Given the description of an element on the screen output the (x, y) to click on. 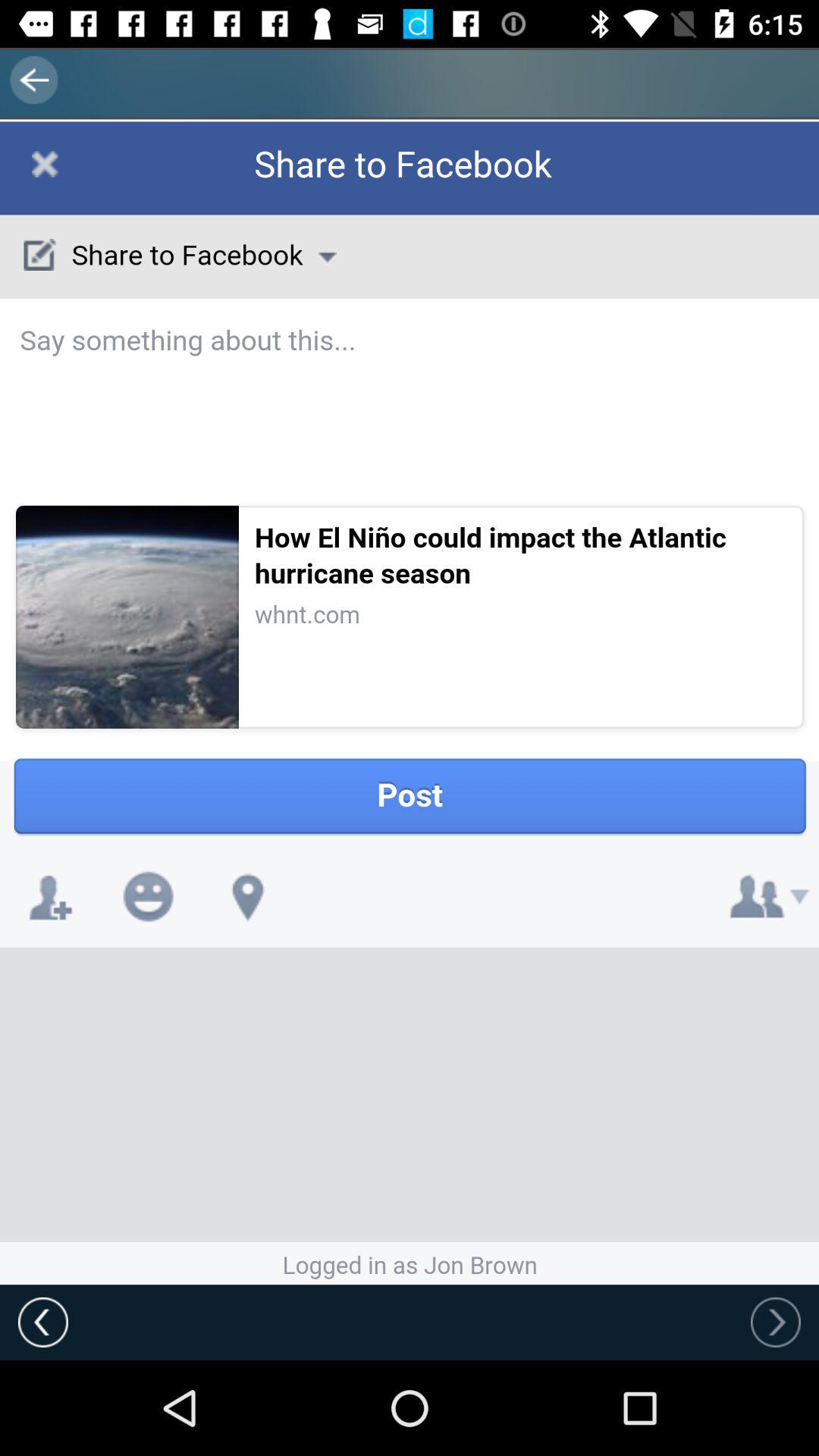
go to previous (43, 1322)
